Given the description of an element on the screen output the (x, y) to click on. 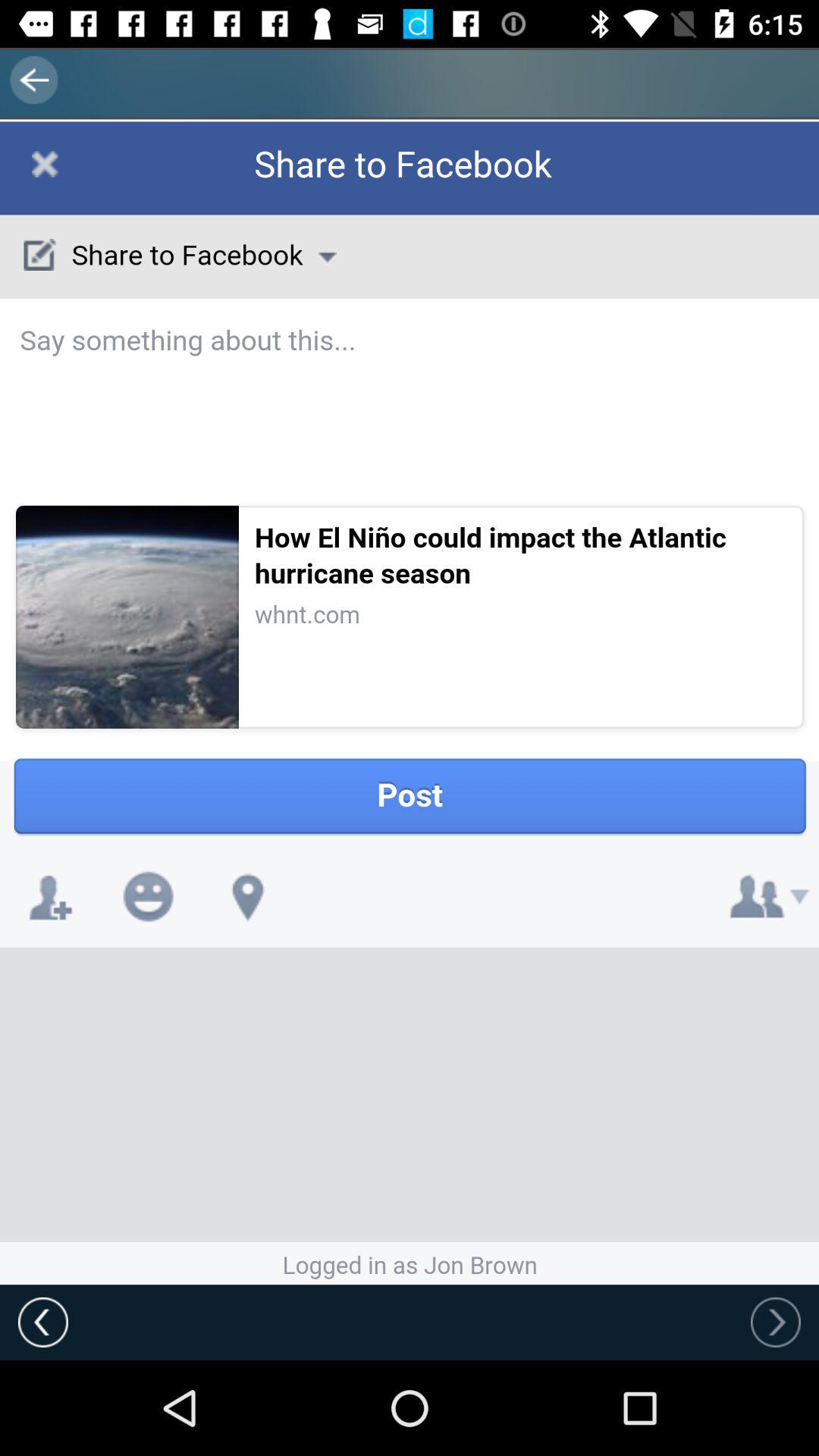
go to previous (43, 1322)
